Given the description of an element on the screen output the (x, y) to click on. 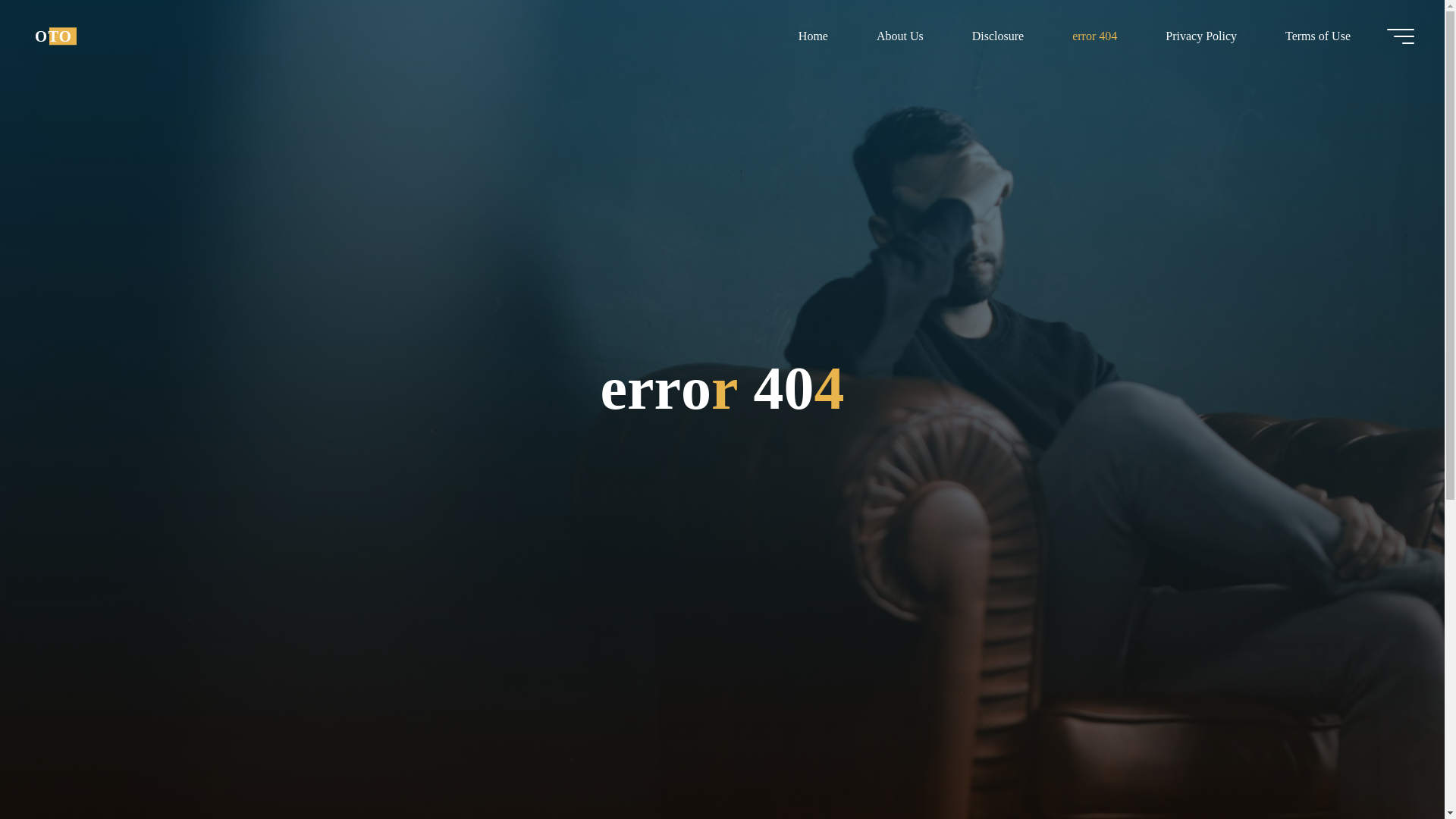
Read more (721, 724)
error 404 (1094, 35)
OTO (53, 36)
Privacy Policy (1200, 35)
Disclosure (997, 35)
About Us (899, 35)
Home (812, 35)
Terms of Use (1317, 35)
